Given the description of an element on the screen output the (x, y) to click on. 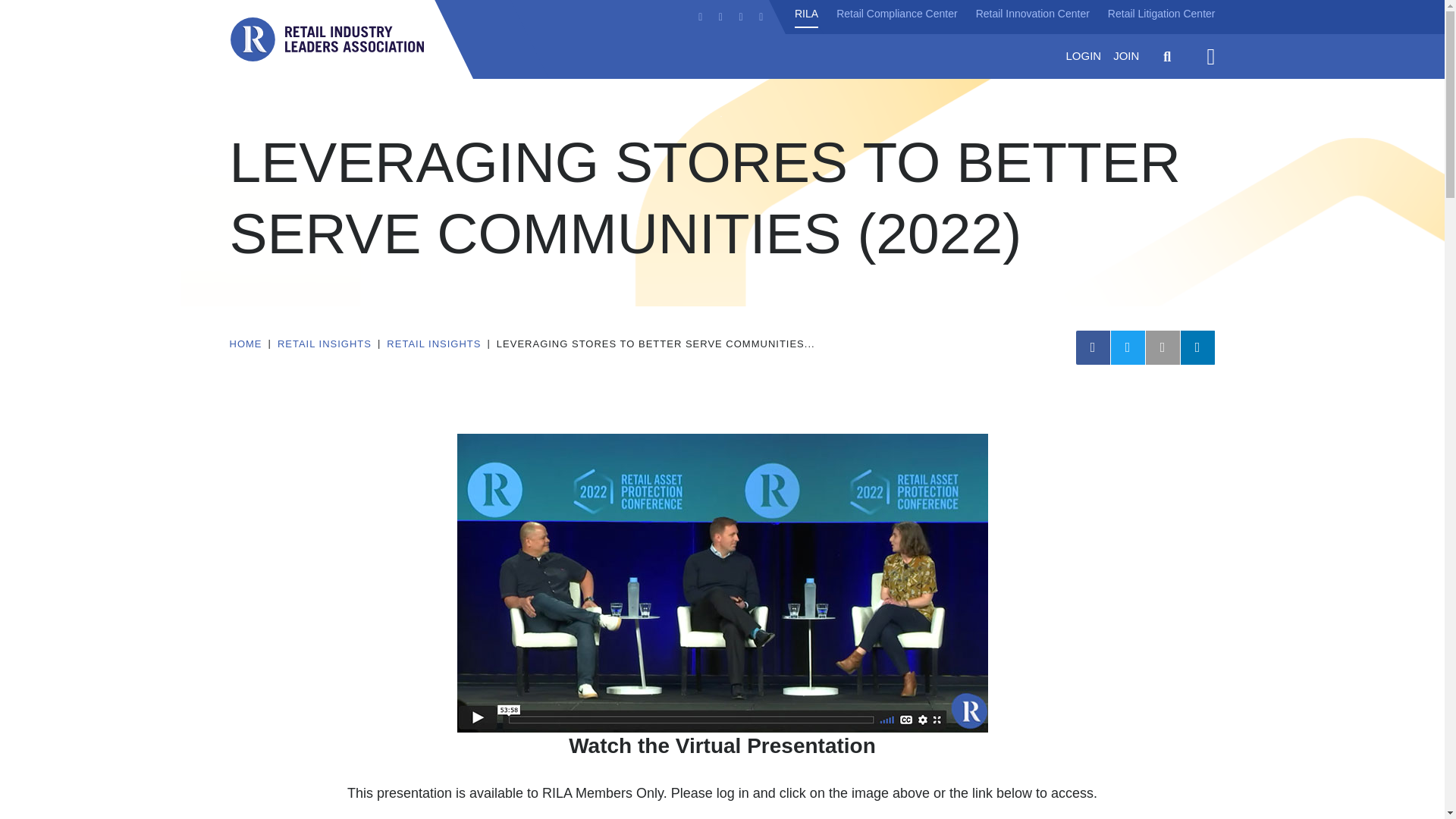
Retail Litigation Center (1161, 13)
JOIN (1125, 56)
LOGIN (1082, 56)
Retail Compliance Center (896, 13)
Retail Innovation Center (1032, 13)
